Given the description of an element on the screen output the (x, y) to click on. 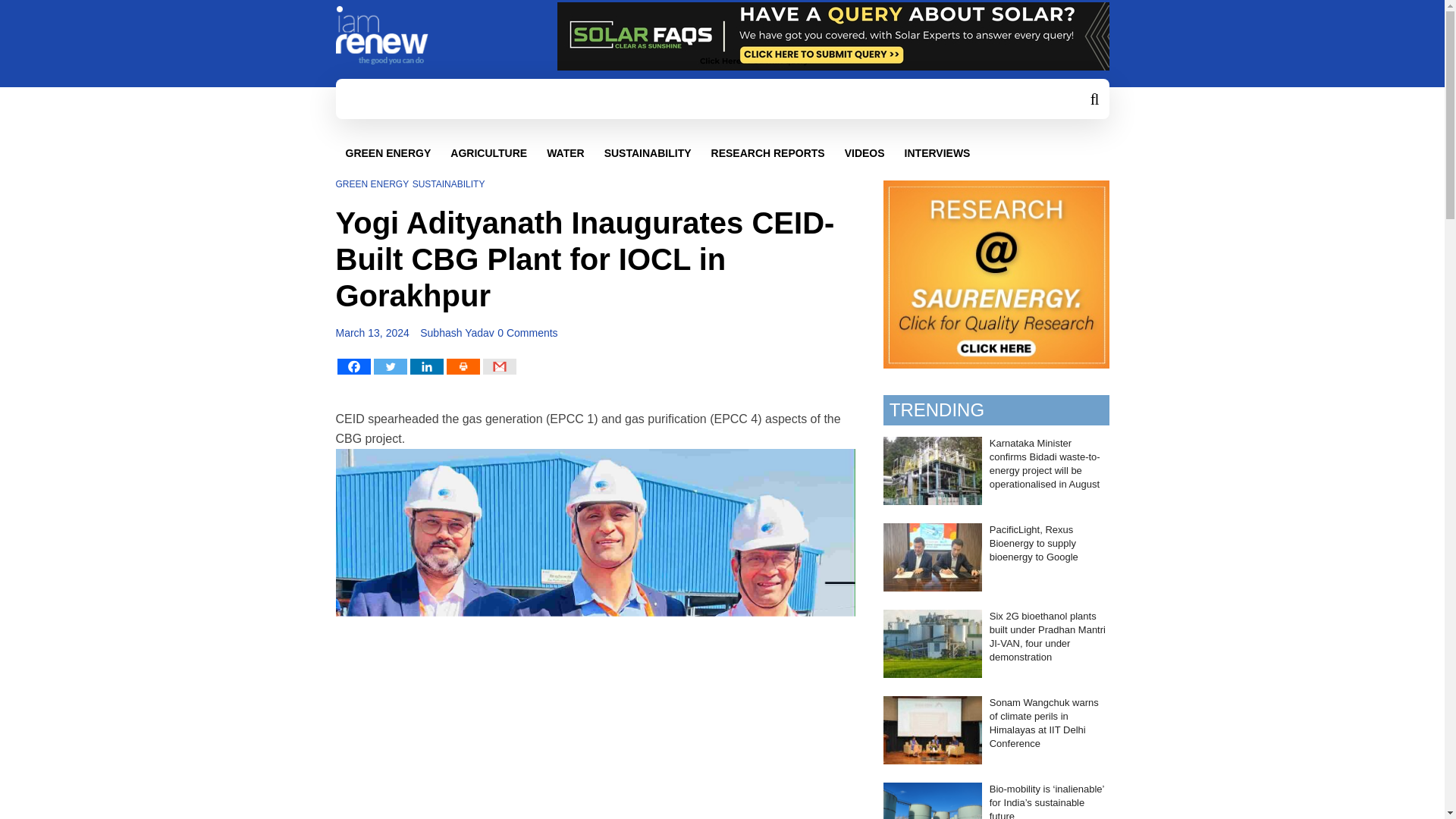
RESEARCH REPORTS (768, 152)
VIDEOS (864, 152)
Print (462, 366)
Twitter (389, 366)
AGRICULTURE (488, 152)
Google Gmail (498, 366)
March 13, 2024 (371, 332)
INTERVIEWS (937, 152)
Subhash Yadav (457, 332)
12:18 pm (371, 332)
0 Comments (527, 332)
GREEN ENERGY (371, 184)
SUSTAINABILITY (647, 152)
SUSTAINABILITY (448, 184)
Subhash Yadav (457, 332)
